Given the description of an element on the screen output the (x, y) to click on. 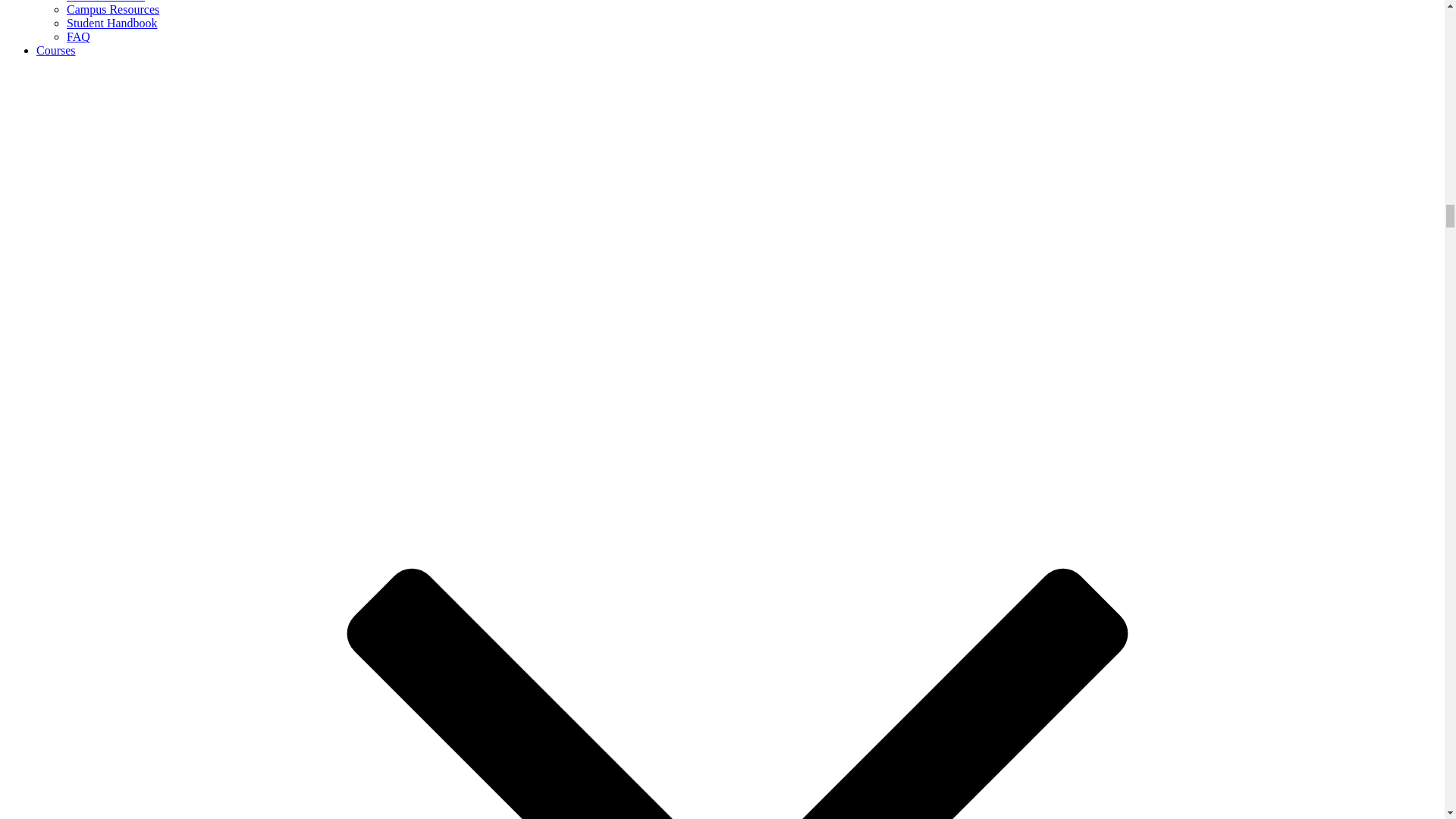
Student Handbook (111, 22)
Life in Madison (105, 1)
Campus Resources (112, 9)
FAQ (78, 36)
